Given the description of an element on the screen output the (x, y) to click on. 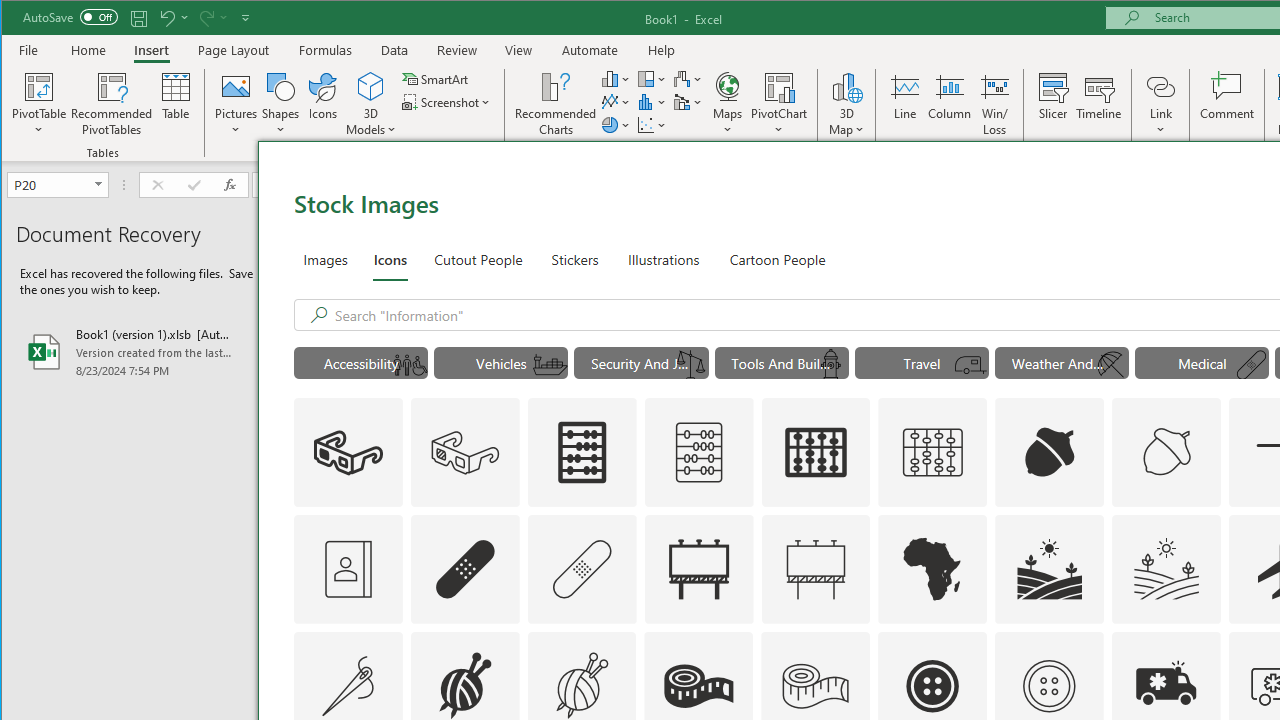
SmartArt... (436, 78)
PivotChart (779, 86)
"Travel" Icons. (922, 362)
AutomationID: Icons_Abacus (582, 452)
PivotTable (39, 104)
Illustrations (663, 258)
AutomationID: Icons_Acorn (1049, 452)
Link (1160, 86)
AutomationID: Icons_Agriculture_M (1167, 568)
